Given the description of an element on the screen output the (x, y) to click on. 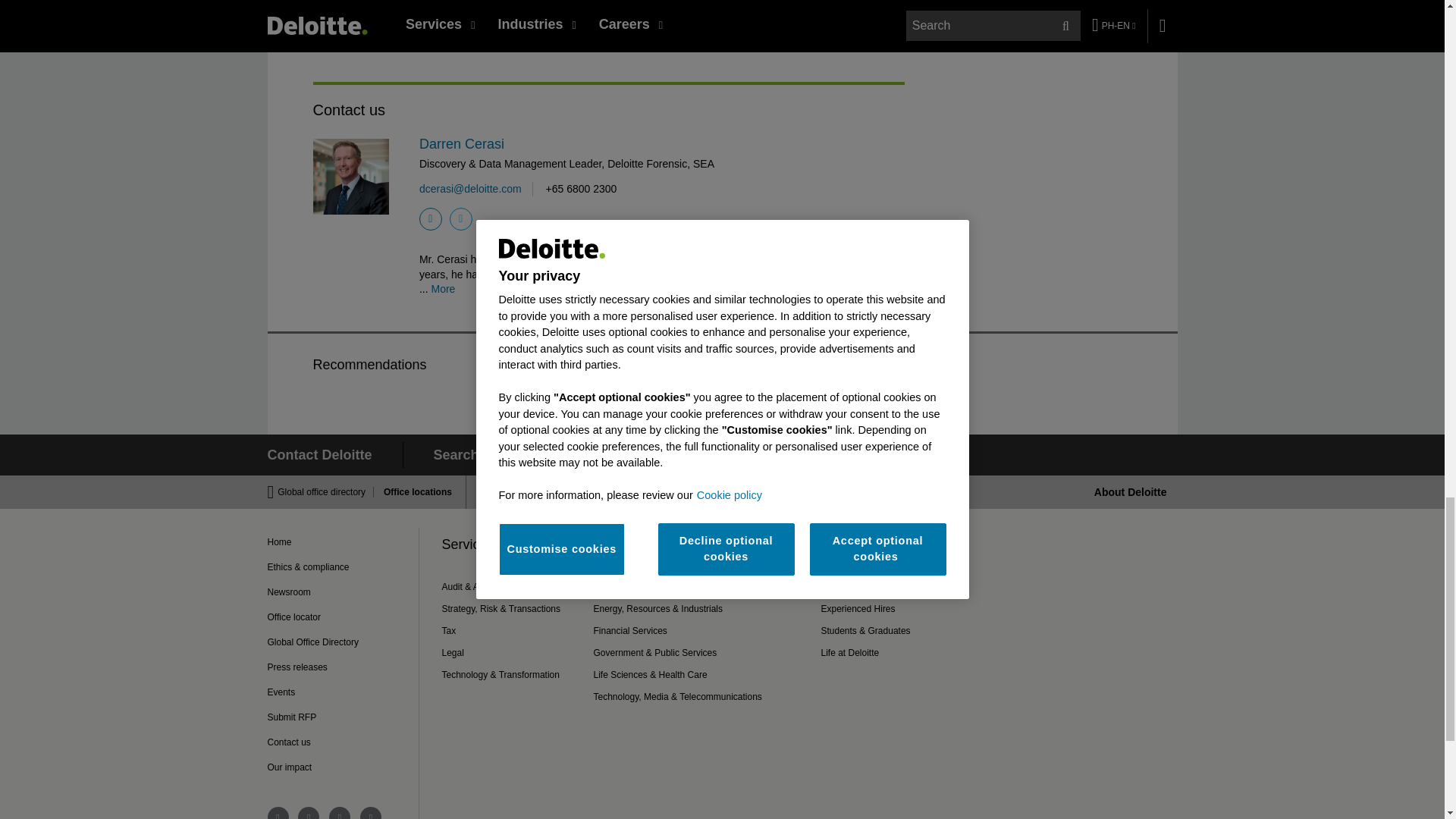
LinkedIn (430, 219)
Global office directory (326, 491)
linkedin (308, 812)
Twitter (460, 219)
facebook (277, 812)
instagram (339, 812)
Office locations (413, 491)
twitter (370, 812)
About Deloitte (1130, 491)
